Given the description of an element on the screen output the (x, y) to click on. 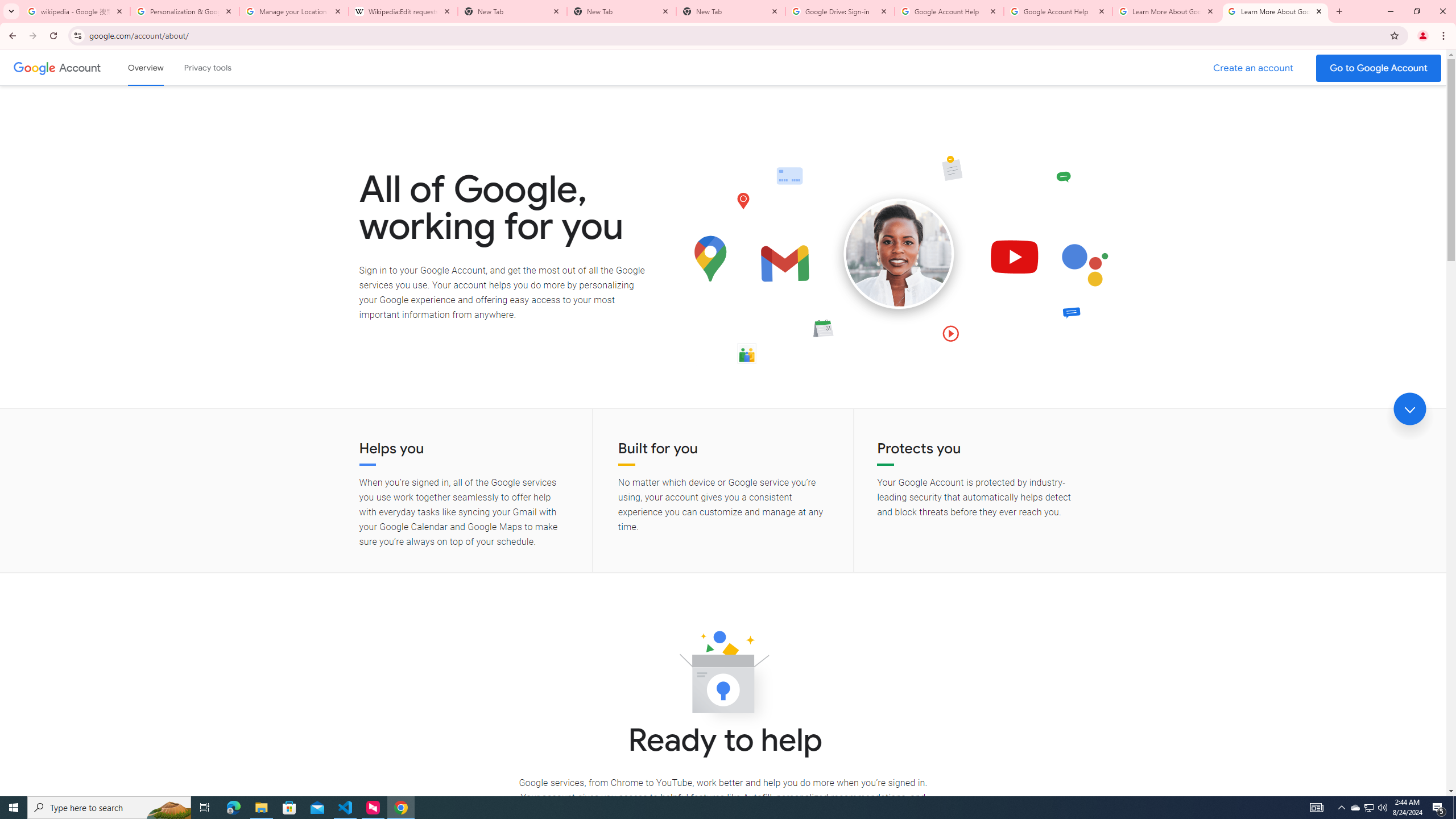
Ready to help (722, 675)
New Tab (621, 11)
Create a Google Account (1253, 67)
Wikipedia:Edit requests - Wikipedia (403, 11)
Skip to Content (162, 65)
Personalization & Google Search results - Google Search Help (184, 11)
Google Account (80, 67)
